Given the description of an element on the screen output the (x, y) to click on. 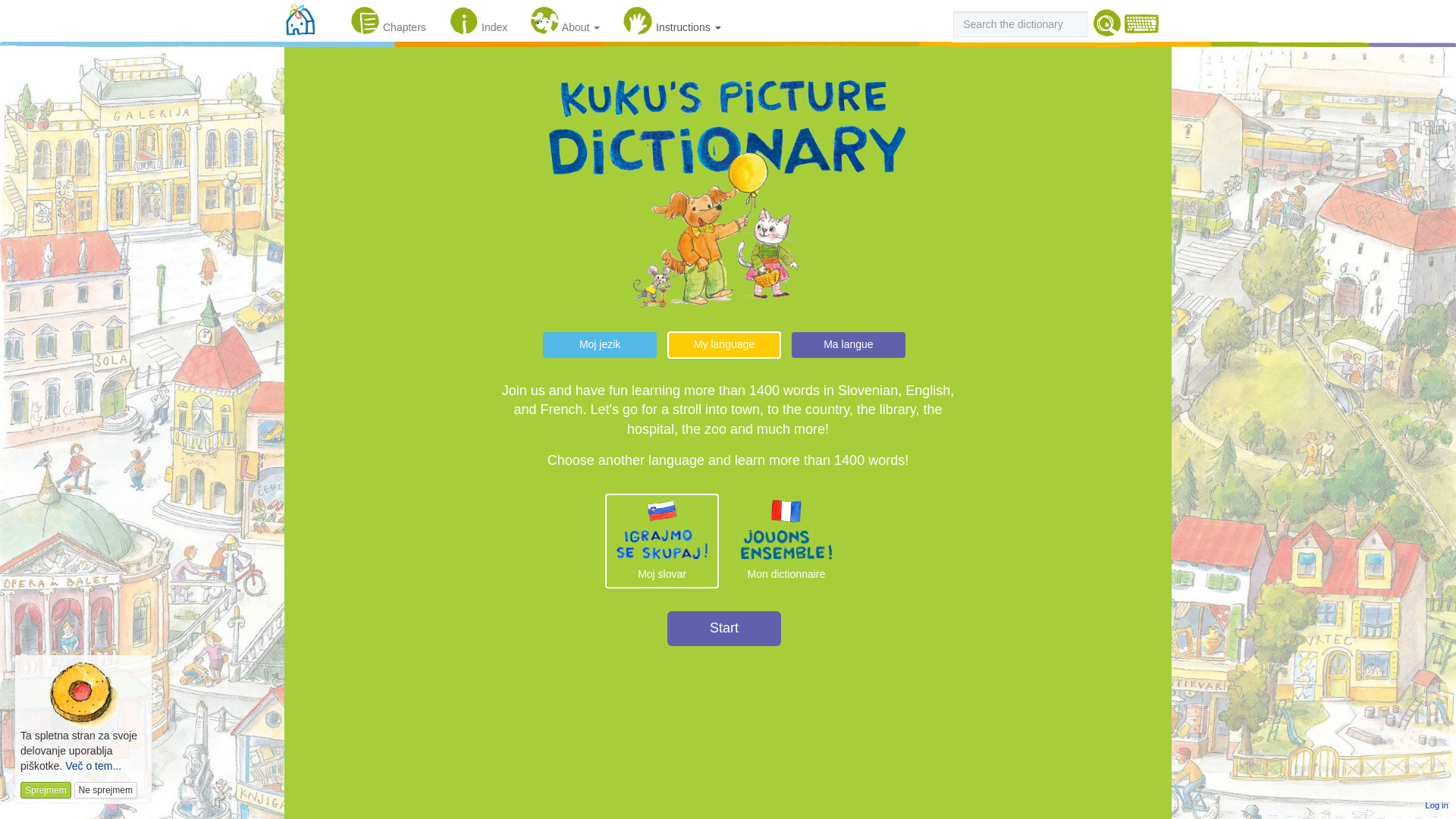
Moj slovar (662, 540)
About (564, 17)
My language (723, 344)
Log in (1436, 804)
Instructions (671, 17)
Index (478, 17)
Start (723, 628)
Mon dictionnaire (786, 540)
Ma langue (848, 344)
Chapters (388, 17)
